Given the description of an element on the screen output the (x, y) to click on. 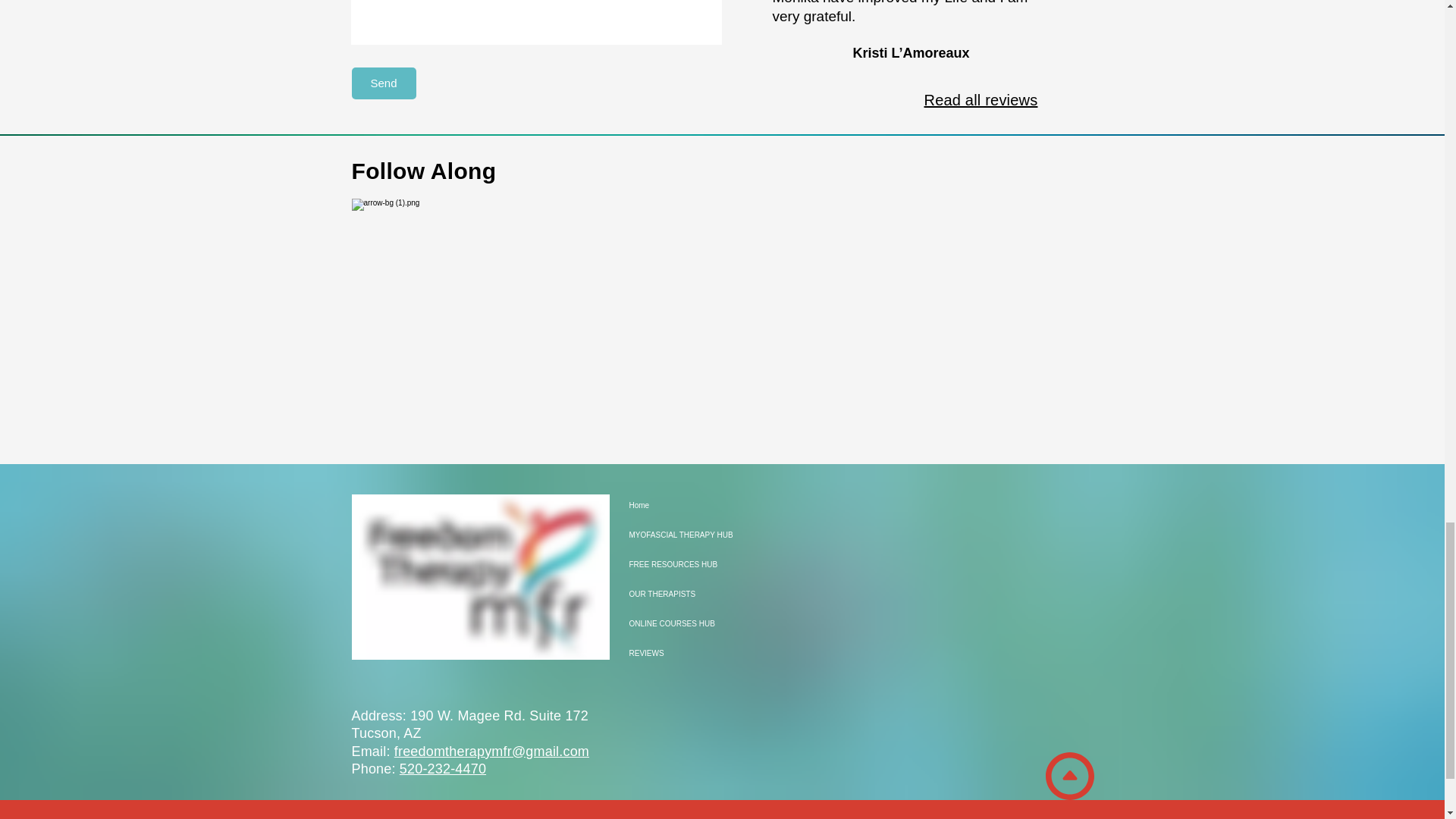
MYOFASCIAL THERAPY HUB (682, 534)
Home (682, 505)
ONLINE COURSES HUB (682, 623)
FREE RESOURCES HUB (682, 564)
Read all reviews (979, 99)
Send (384, 83)
OUR THERAPISTS (682, 594)
REVIEWS (682, 653)
